Given the description of an element on the screen output the (x, y) to click on. 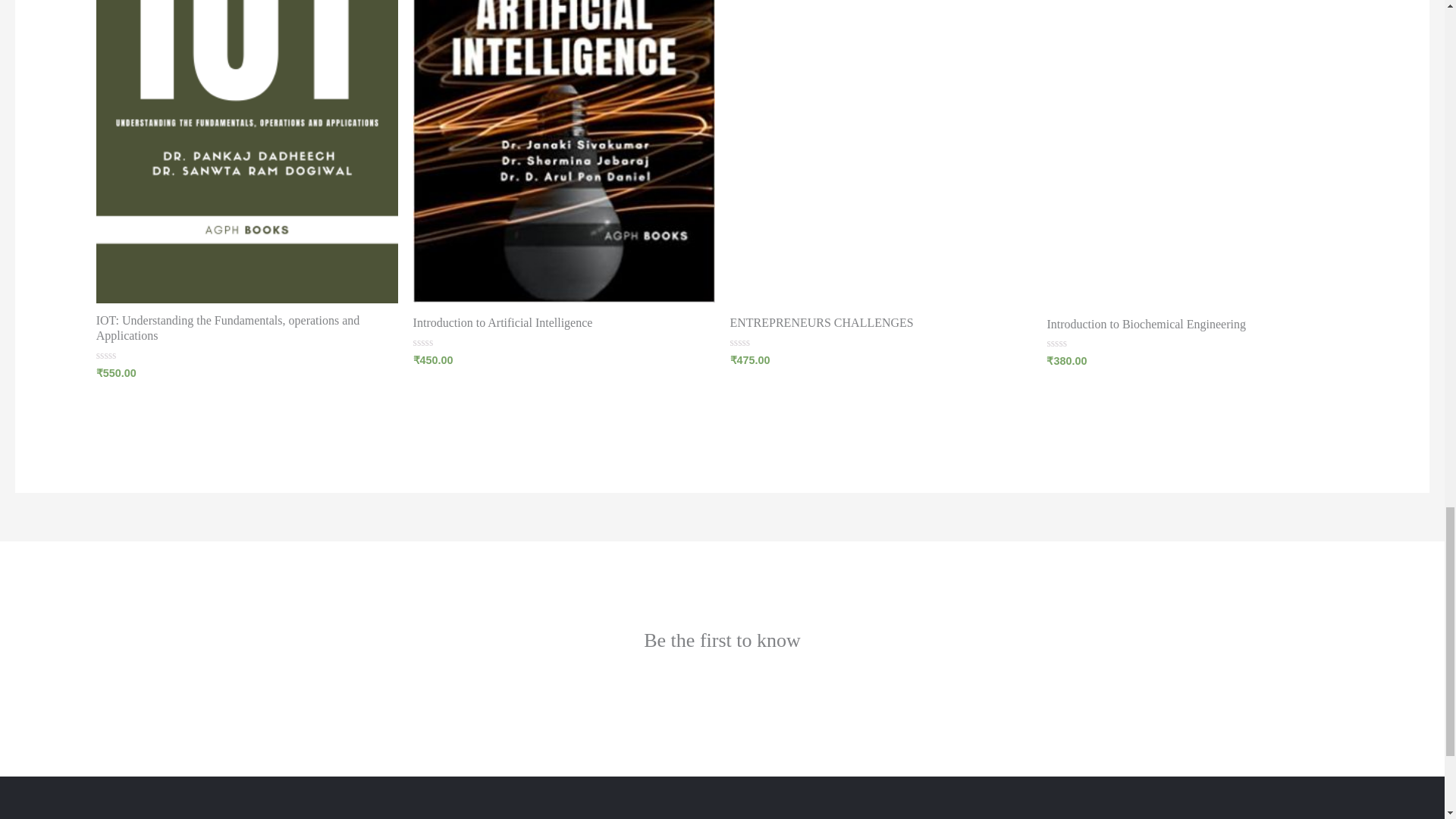
Introduction to Artificial Intelligence (502, 326)
ENTREPRENEURS CHALLENGES (820, 326)
Introduction to Biochemical Engineering (1146, 327)
